Given the description of an element on the screen output the (x, y) to click on. 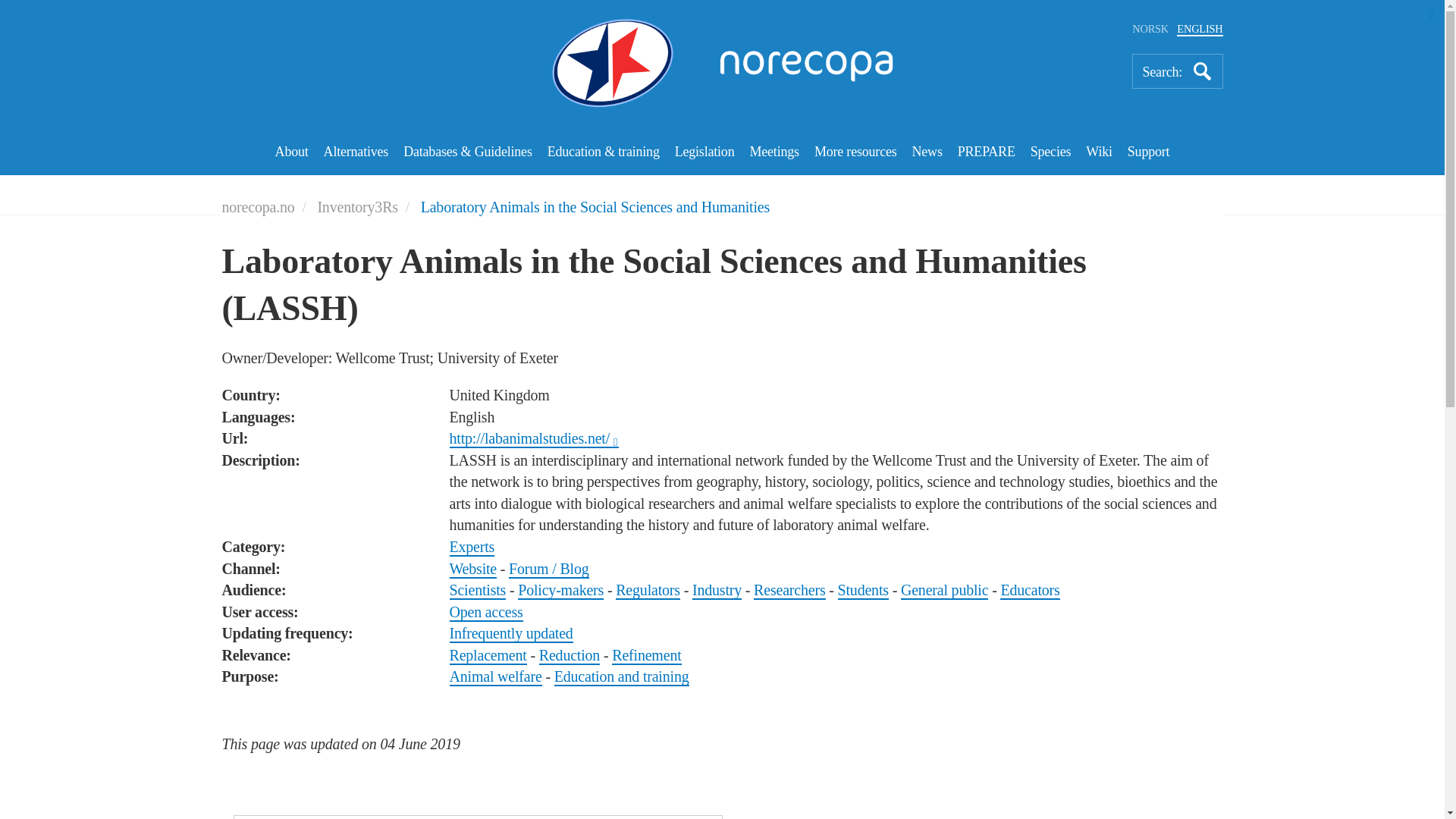
NORSK (1150, 28)
Alternatives (355, 153)
Search (1202, 71)
Logo (722, 63)
ENGLISH (1199, 29)
